Given the description of an element on the screen output the (x, y) to click on. 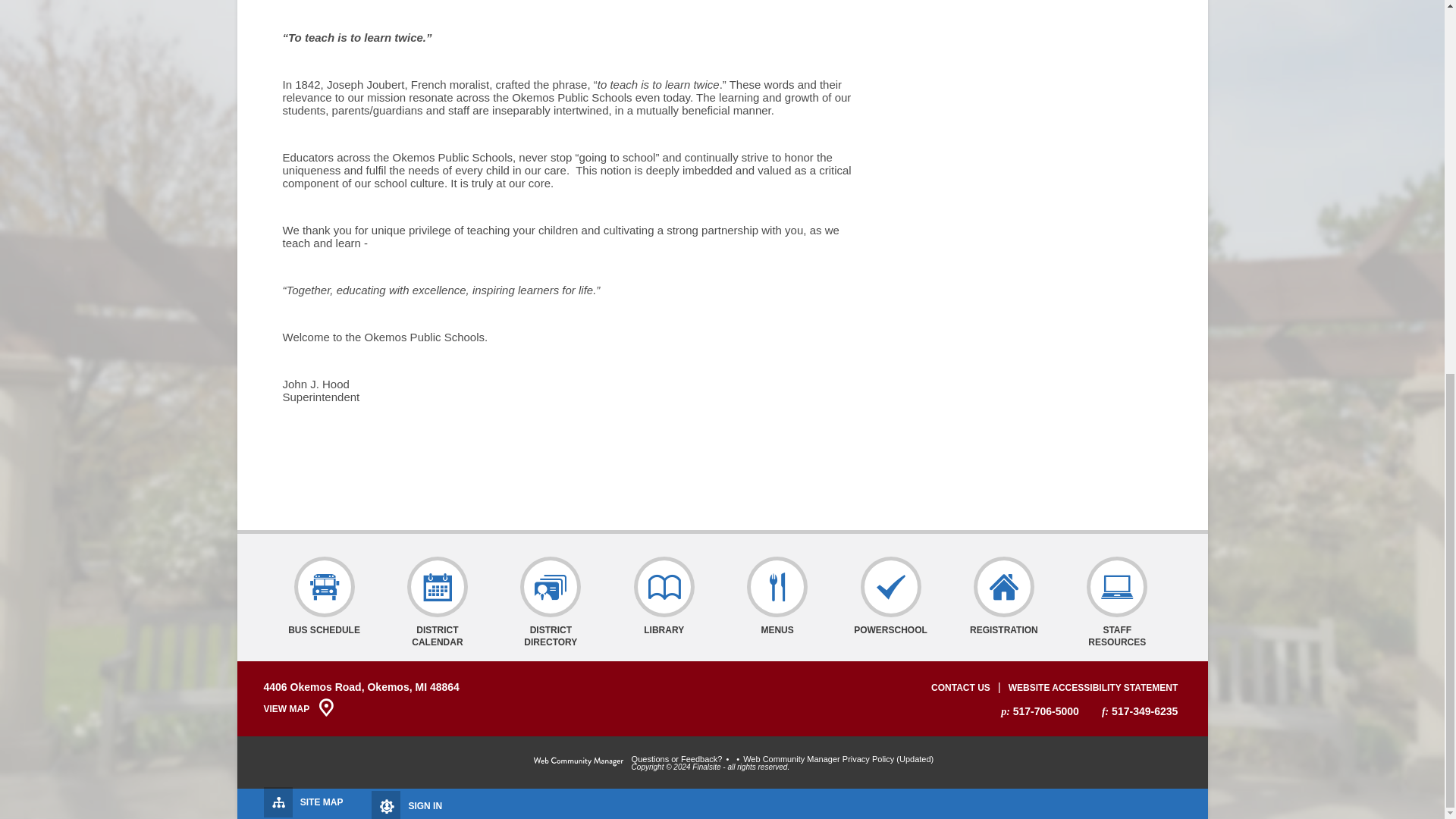
Finalsite - all rights reserved (578, 761)
